Given the description of an element on the screen output the (x, y) to click on. 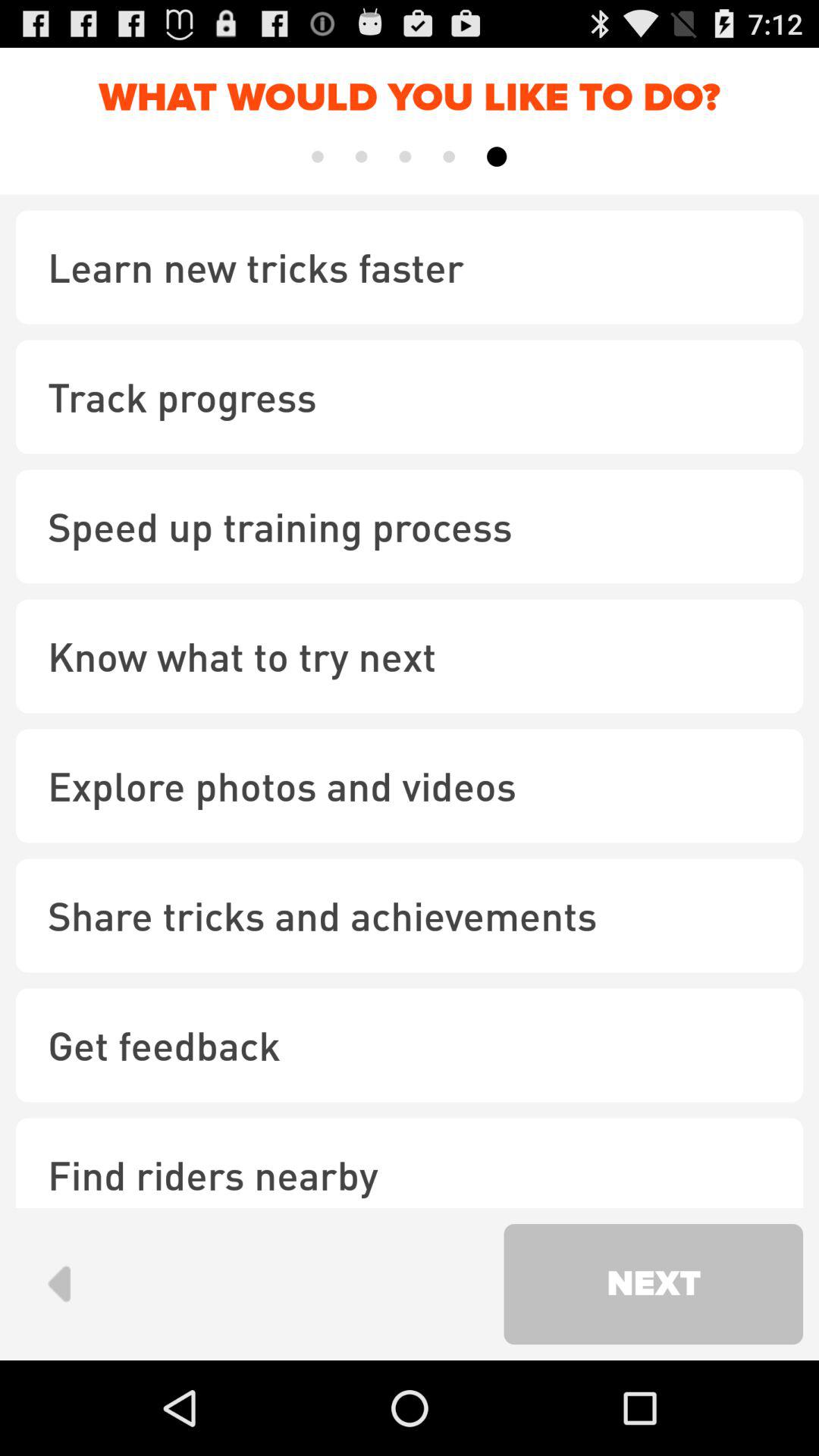
turn off the checkbox above the share tricks and checkbox (409, 785)
